Given the description of an element on the screen output the (x, y) to click on. 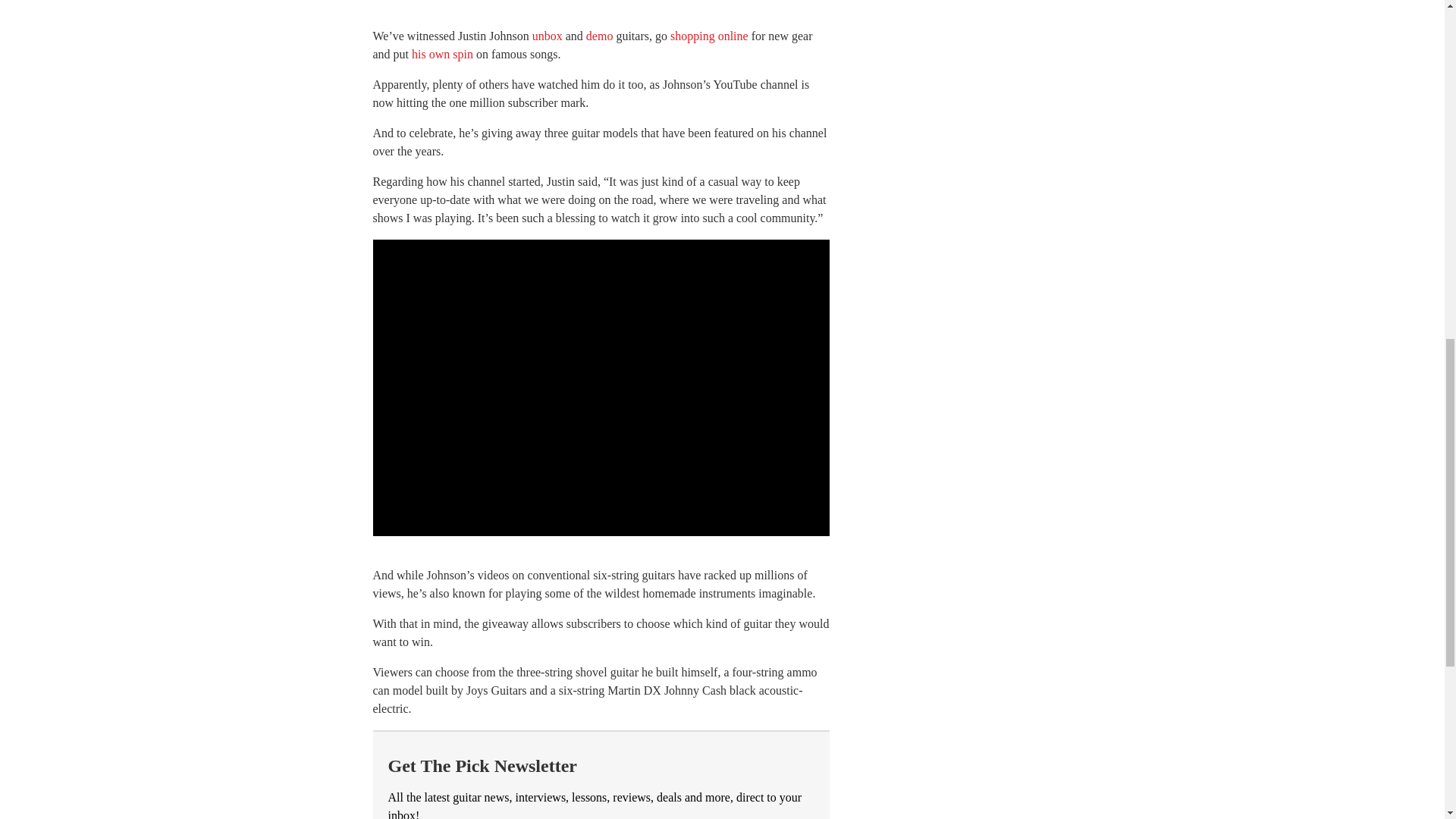
demo (599, 35)
shopping online (708, 35)
his own spin (442, 53)
unbox (547, 35)
